Given the description of an element on the screen output the (x, y) to click on. 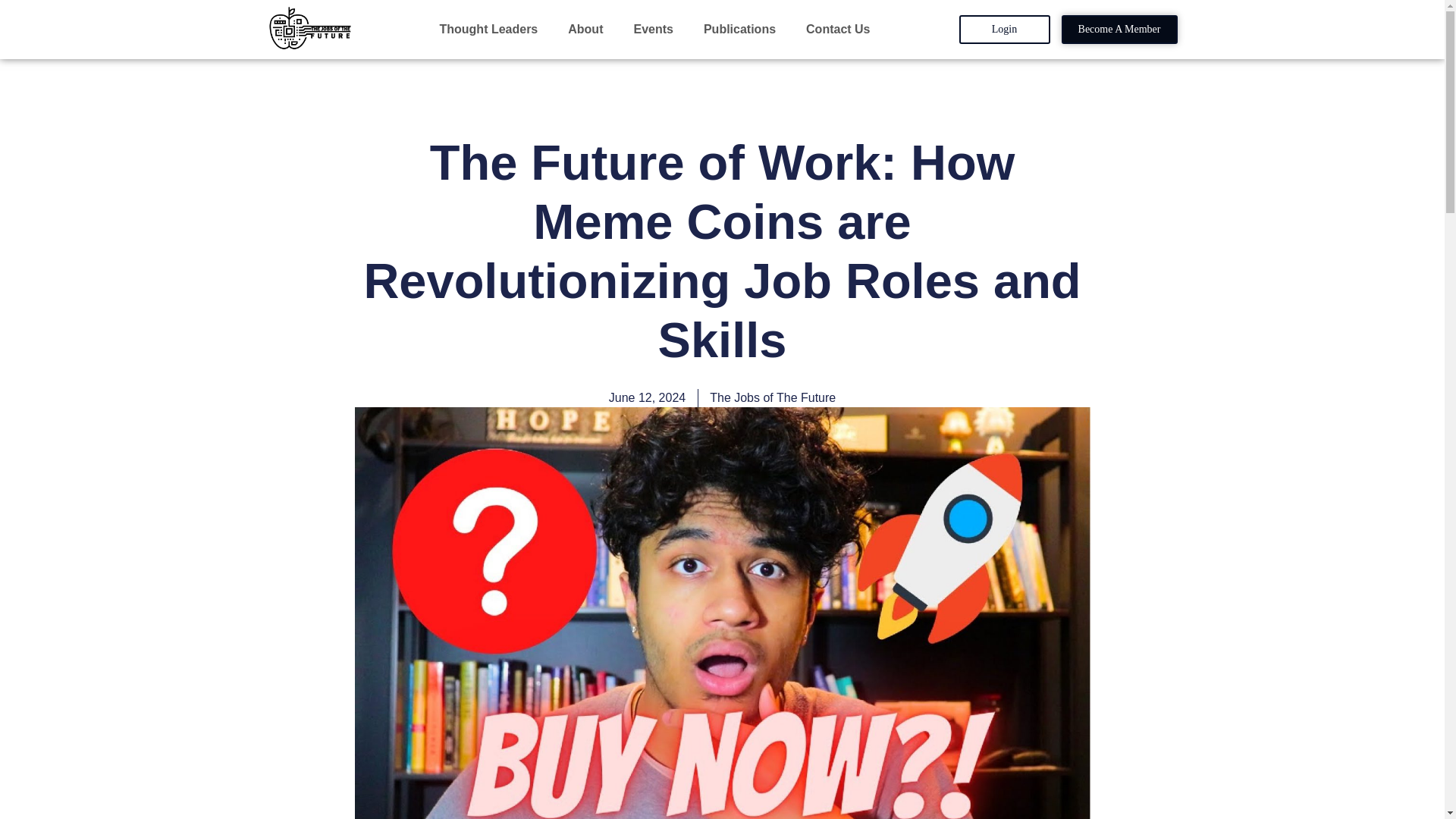
Contact Us (837, 29)
About (588, 29)
Become A Member (1119, 29)
Login (1003, 29)
June 12, 2024 (646, 398)
Events (656, 29)
Thought Leaders (492, 29)
The Jobs of The Future (772, 398)
Publications (743, 29)
